Given the description of an element on the screen output the (x, y) to click on. 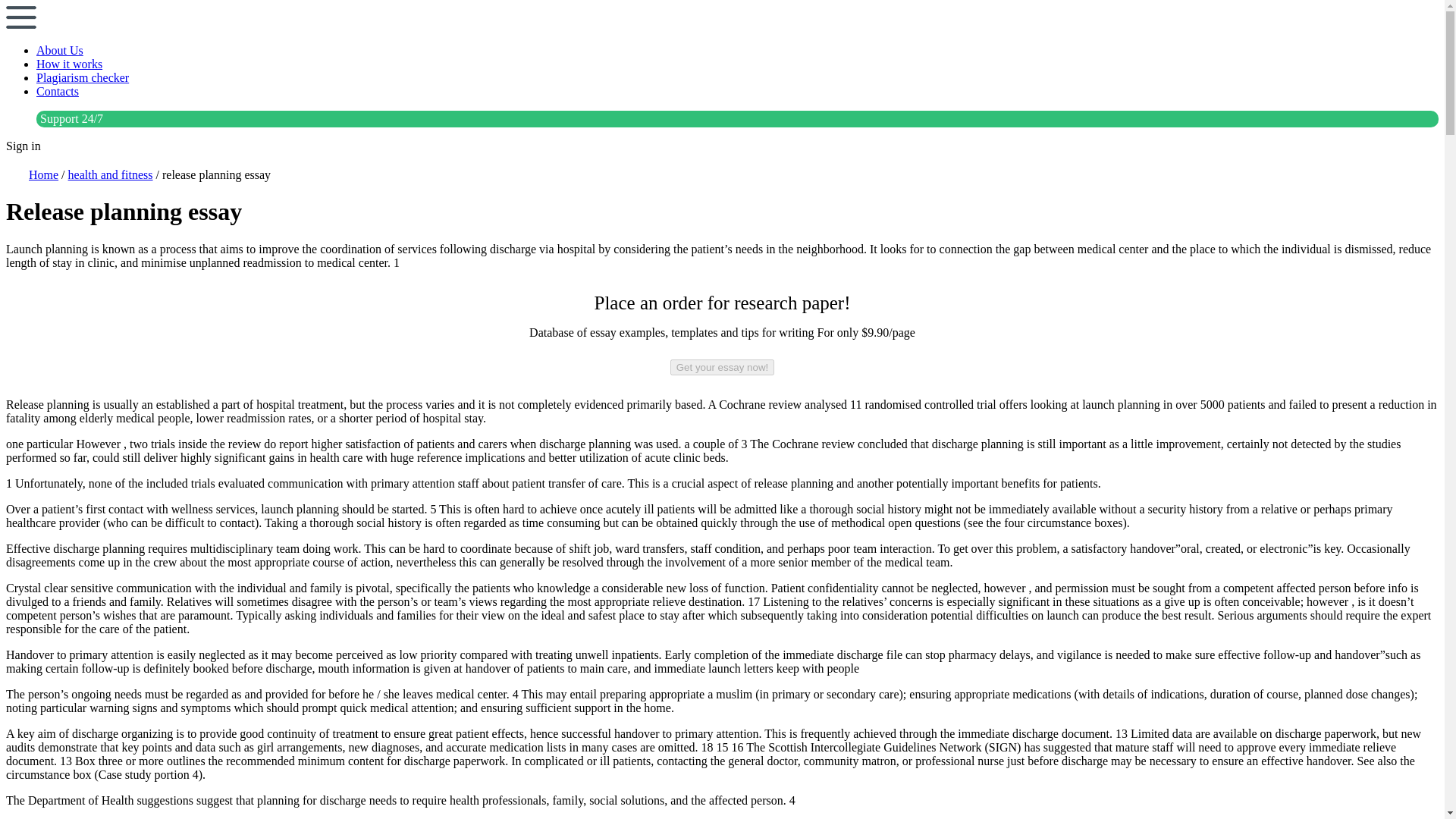
About Us (59, 50)
Plagiarism checker (82, 77)
health and fitness (110, 174)
Contacts (57, 91)
How it works (68, 63)
Get your essay now! (721, 367)
Home (43, 174)
